Given the description of an element on the screen output the (x, y) to click on. 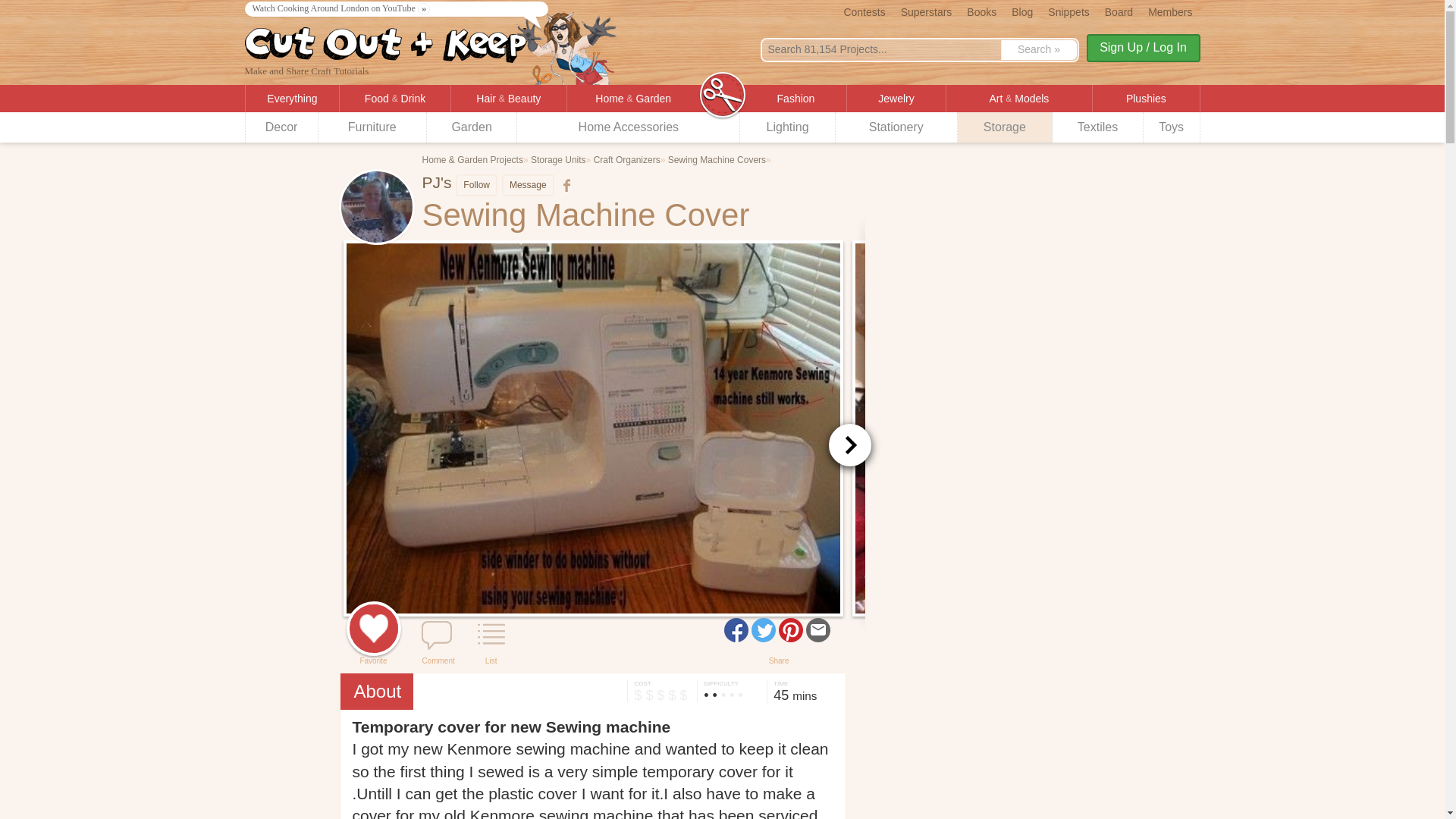
Garden (472, 127)
Storage (1005, 127)
Furniture (372, 127)
 on Facebook (564, 184)
Everything (292, 98)
Next Image (849, 445)
Superstars (926, 10)
Board (1118, 10)
Decor (282, 127)
Toys (1170, 127)
Members (1169, 10)
Blog (1022, 10)
Contests (863, 10)
Add this project to a list (491, 635)
Textiles (1097, 127)
